Given the description of an element on the screen output the (x, y) to click on. 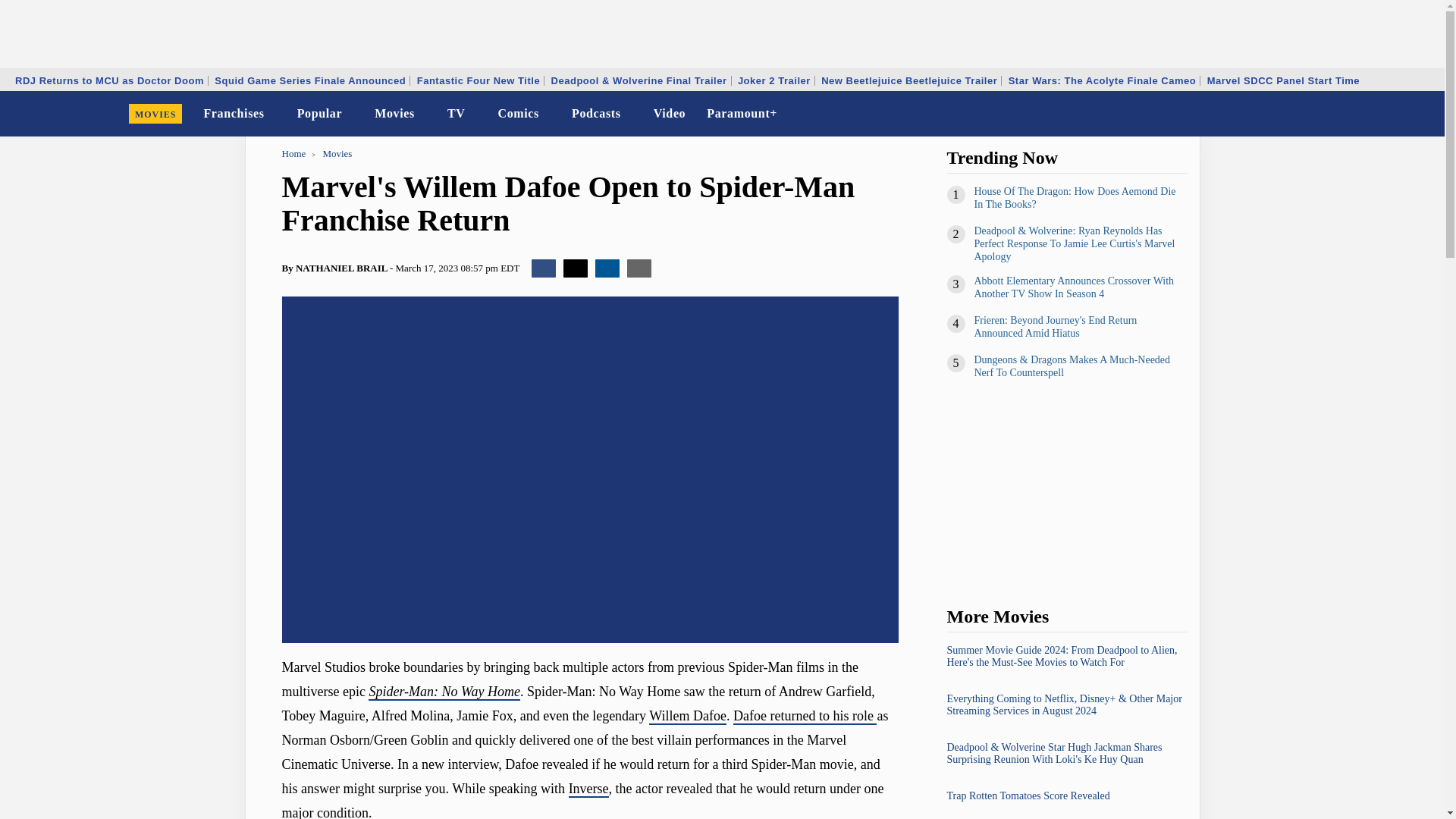
New Beetlejuice Beetlejuice Trailer (908, 80)
Squid Game Series Finale Announced (310, 80)
Dark Mode (1394, 113)
Search (1422, 114)
Marvel SDCC Panel Start Time (1283, 80)
Star Wars: The Acolyte Finale Cameo (1101, 80)
RDJ Returns to MCU as Doctor Doom (109, 80)
Fantastic Four New Title (478, 80)
MOVIES (155, 113)
Popular (320, 113)
Joker 2 Trailer (773, 80)
Movies (394, 113)
